Given the description of an element on the screen output the (x, y) to click on. 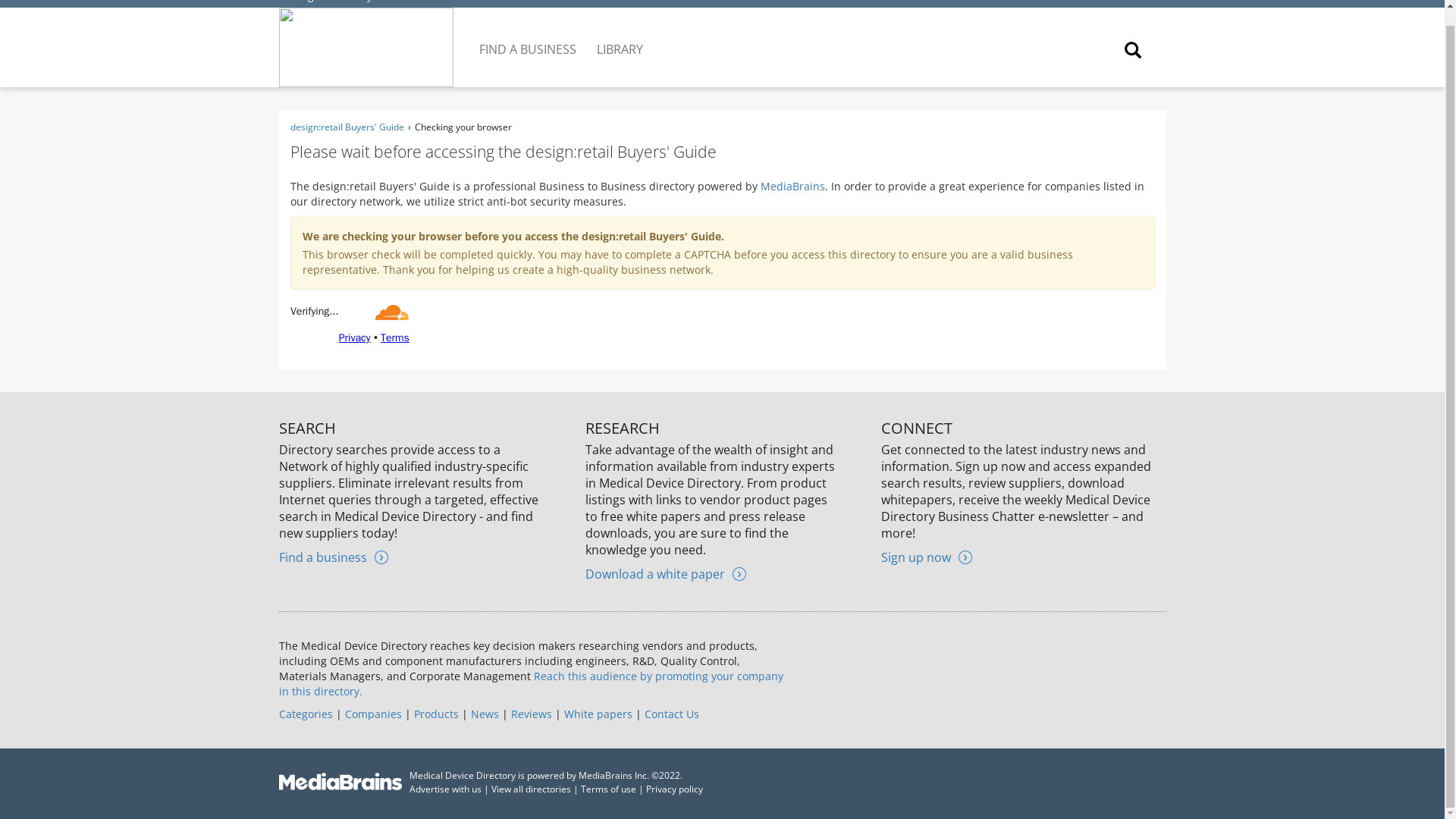
MediaBrains (792, 186)
Categories (306, 713)
Sign up now (926, 556)
design:retail Buyers' Guide (354, 1)
Companies (372, 713)
Advertise with us (445, 788)
Contact Us (671, 713)
Privacy policy (674, 788)
Reviews (531, 713)
Products (435, 713)
Terms of use (608, 788)
Download a white paper (665, 573)
View all directories (531, 788)
Find a business (333, 556)
